Given the description of an element on the screen output the (x, y) to click on. 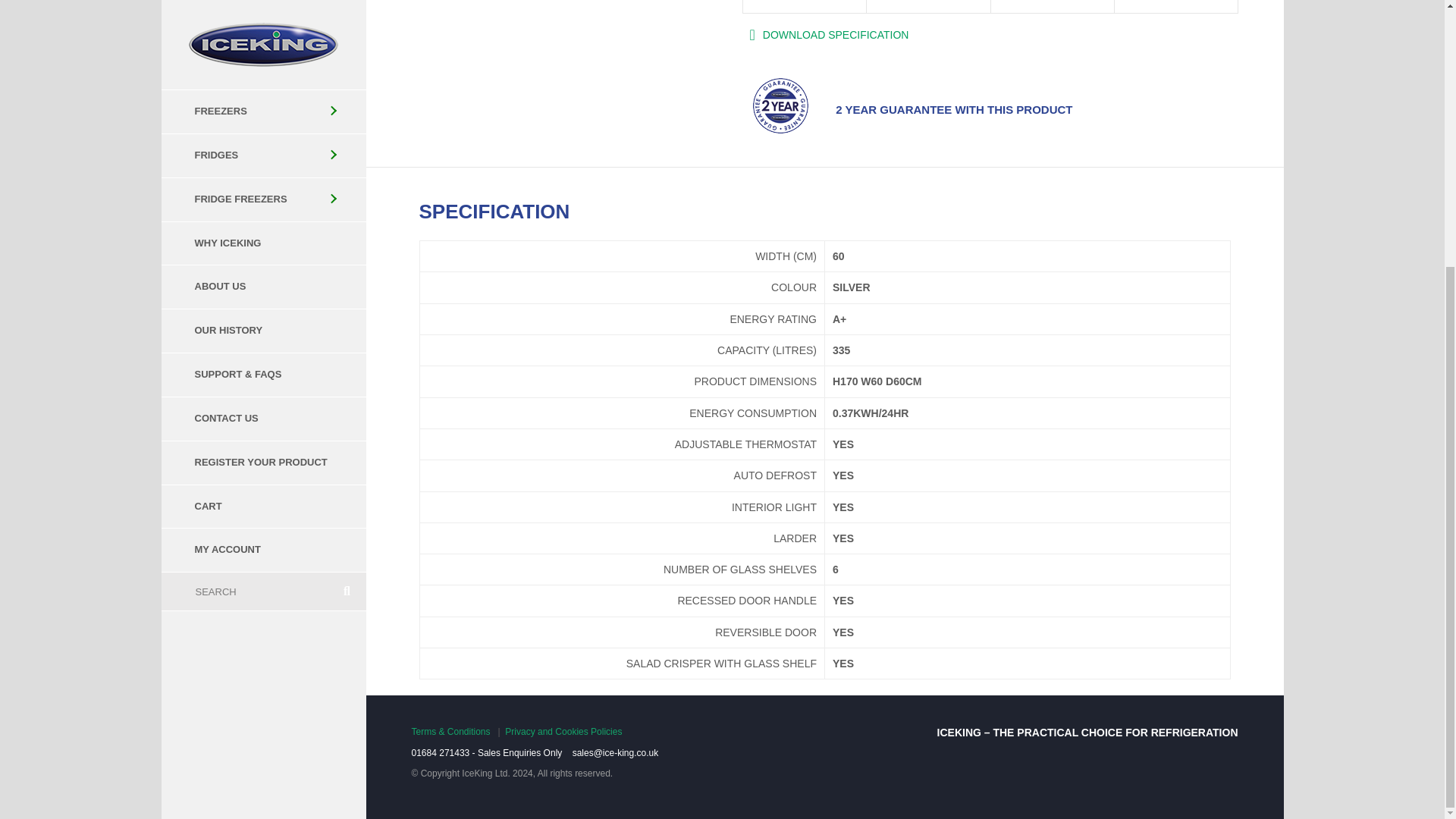
REGISTER YOUR PRODUCT (262, 76)
Search (243, 204)
2year (779, 105)
CART (262, 120)
CONTACT US (262, 31)
MY ACCOUNT (262, 162)
